Given the description of an element on the screen output the (x, y) to click on. 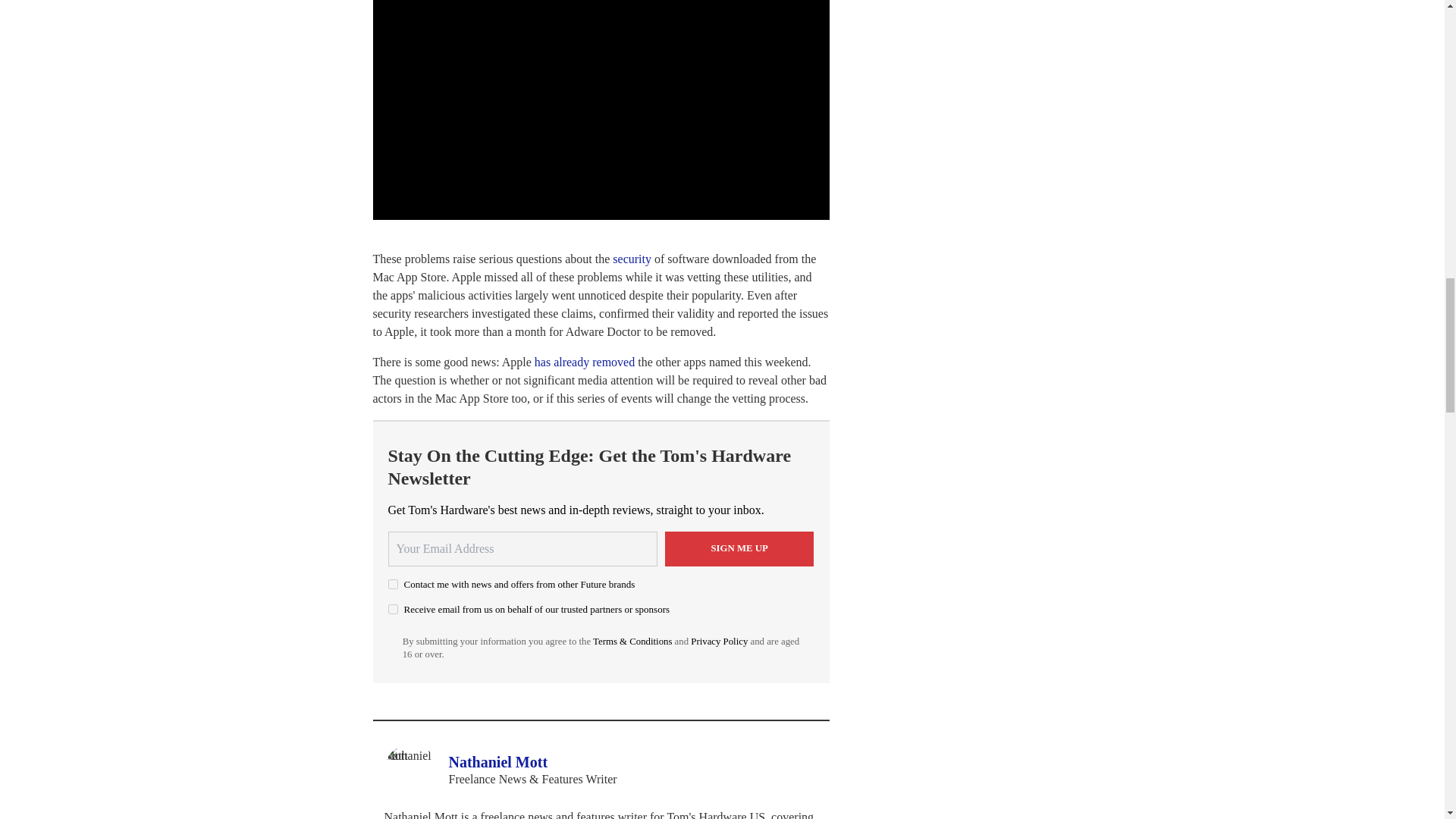
on (392, 583)
on (392, 609)
Sign me up (739, 548)
